Given the description of an element on the screen output the (x, y) to click on. 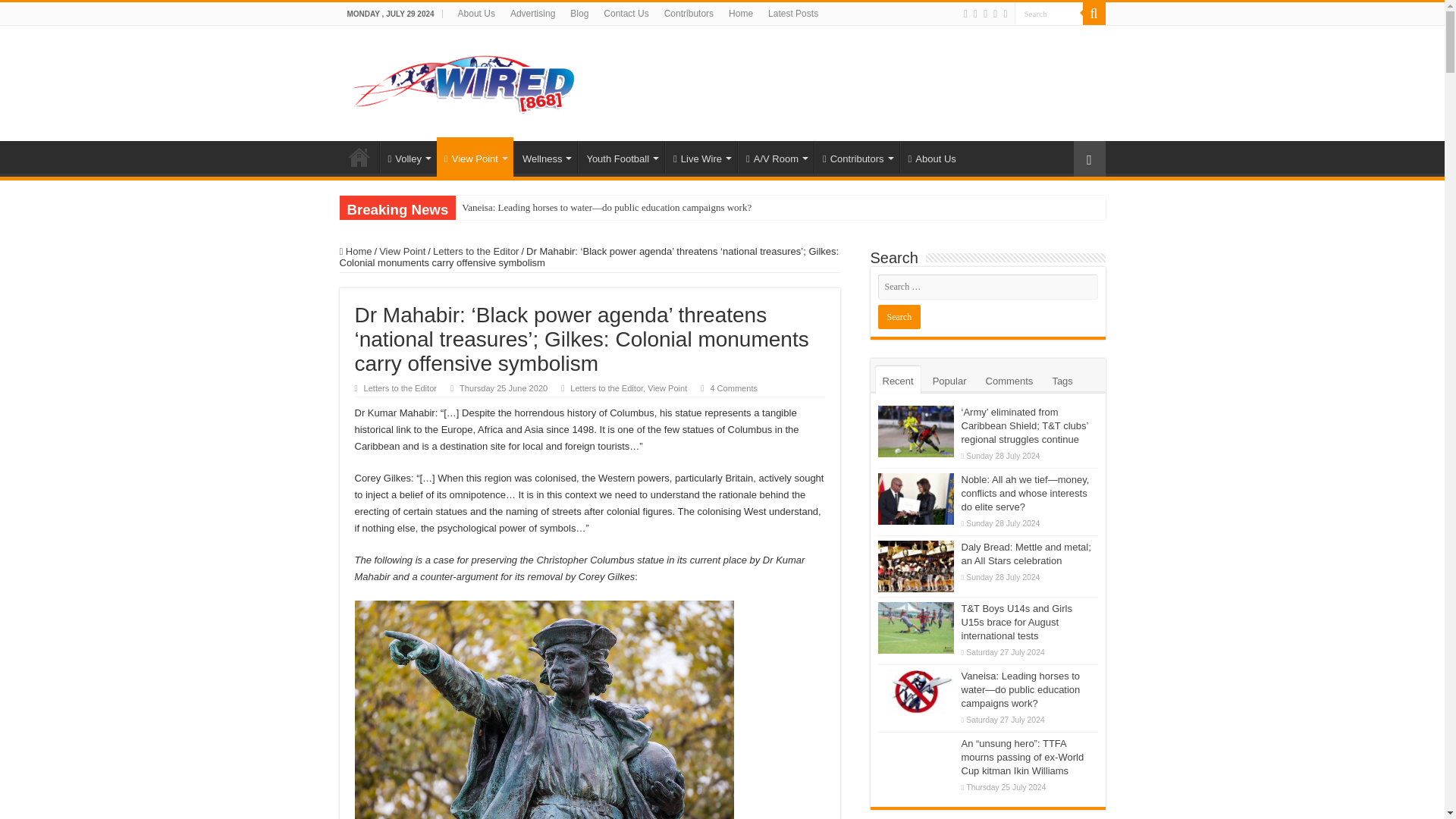
Search (1048, 13)
Search (899, 316)
Search (1048, 13)
Search (899, 316)
Contact Us (625, 13)
Advertising (532, 13)
Search (1094, 13)
Home (740, 13)
Contributors (688, 13)
About Us (475, 13)
Blog (578, 13)
Search (1048, 13)
Latest Posts (792, 13)
Wired868 (464, 80)
